Given the description of an element on the screen output the (x, y) to click on. 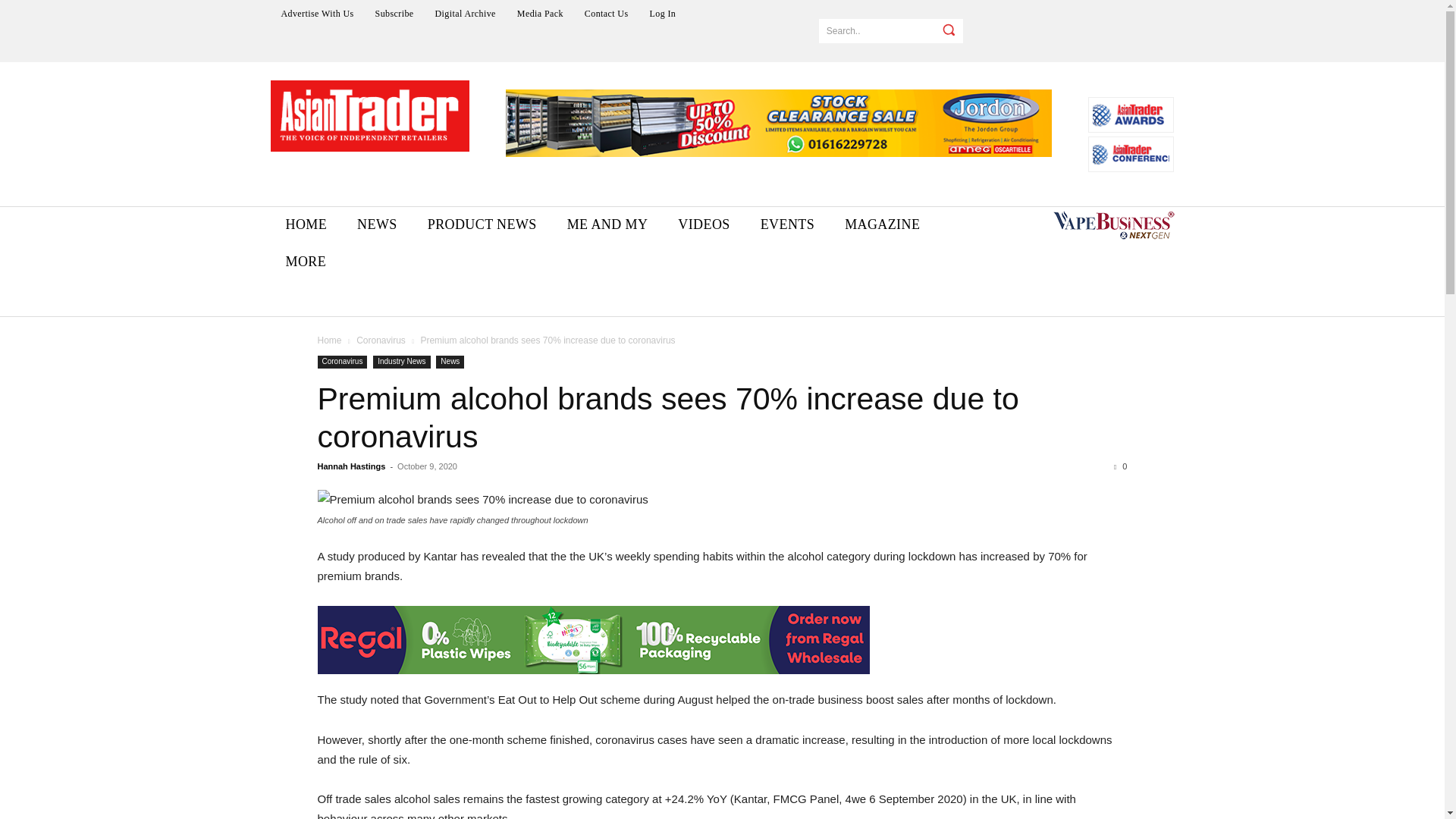
HOME (305, 224)
PRODUCT NEWS (481, 224)
Contact Us (606, 13)
Subscribe (395, 13)
NEWS (377, 224)
Digital Archive (465, 13)
Advertise With Us (316, 13)
Asian Trader Awards (1131, 114)
Log In (663, 13)
Asian Trader Conference (1131, 153)
Media Pack (539, 13)
